Given the description of an element on the screen output the (x, y) to click on. 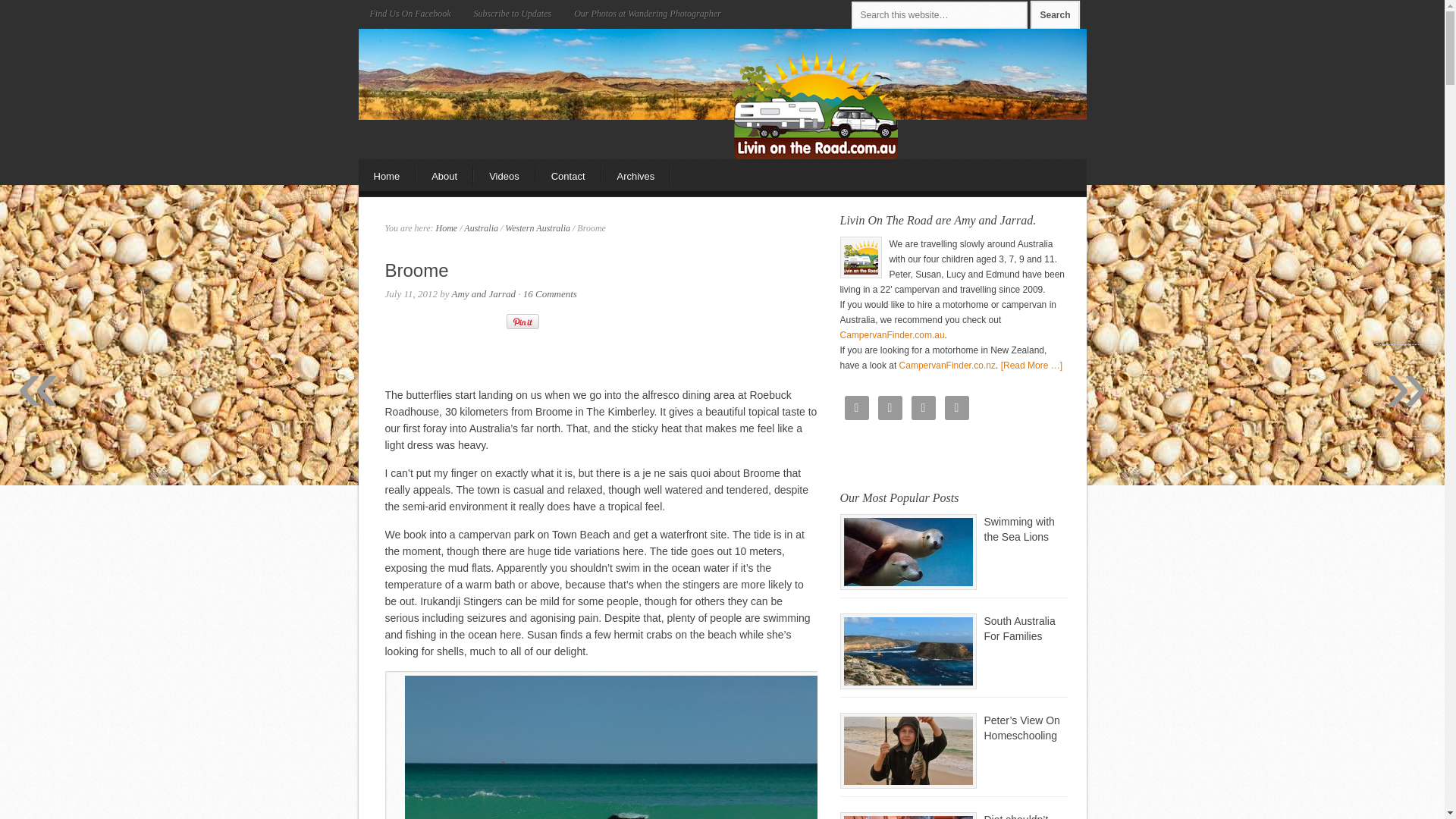
About Element type: text (444, 175)
Home Element type: text (386, 175)
16 Comments Element type: text (550, 293)
Archives Element type: text (636, 175)
Swimming with the Sea Lions Element type: hover (908, 551)
Our Photos at Wandering Photographer Element type: text (647, 13)
CampervanFinder.co.nz Element type: text (947, 365)
family travel blog Australia Element type: hover (814, 105)
Home Element type: text (446, 227)
CampervanFinder.com.au Element type: text (892, 334)
Subscribe to Updates Element type: text (511, 13)
Australia Element type: text (481, 227)
Search Element type: text (1054, 14)
Western Australia Element type: text (537, 227)
South Australia For Families Element type: text (1019, 628)
Videos Element type: text (504, 175)
Pin It Element type: hover (522, 321)
Find Us On Facebook Element type: text (409, 13)
Amy and Jarrad Element type: text (483, 293)
Contact Element type: text (569, 175)
South Australia For Families Element type: hover (908, 651)
LIVING ON THE ROAD Element type: text (490, 73)
Swimming with the Sea Lions Element type: text (1019, 528)
